Given the description of an element on the screen output the (x, y) to click on. 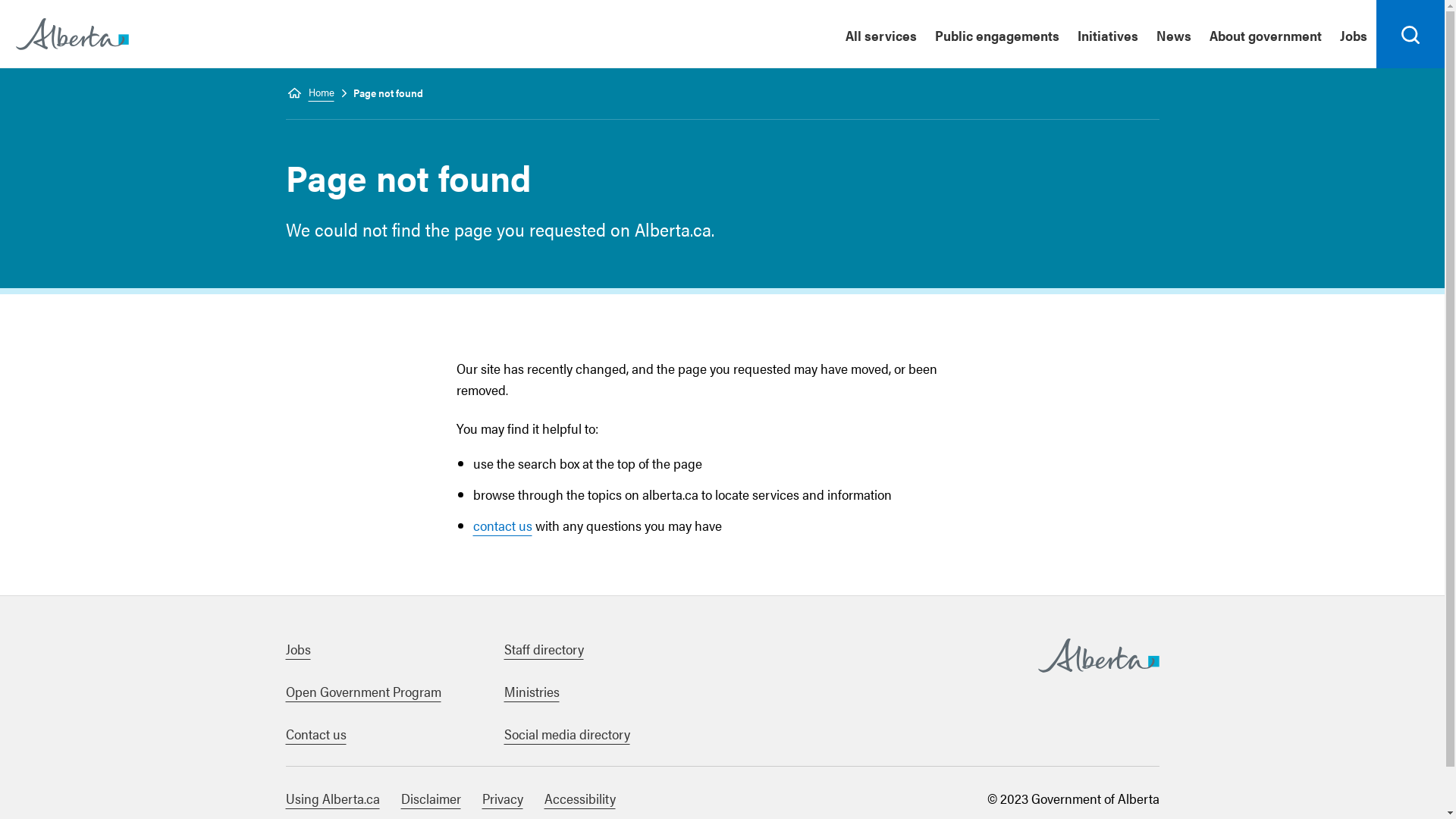
Using Alberta.ca Element type: text (332, 797)
Disclaimer Element type: text (430, 797)
Jobs Element type: text (297, 648)
Social media directory Element type: text (566, 733)
Home Element type: hover (72, 33)
Initiatives Element type: text (1107, 34)
Accessibility Element type: text (579, 797)
contact us Element type: text (502, 524)
Privacy Element type: text (502, 797)
Jobs Element type: text (1353, 34)
Contact us Element type: text (315, 733)
Search Element type: text (1410, 34)
Public engagements Element type: text (996, 34)
Ministries Element type: text (530, 690)
News Element type: text (1173, 34)
All services Element type: text (880, 34)
About government Element type: text (1265, 34)
Open Government Program Element type: text (362, 690)
Home Element type: text (309, 92)
Staff directory Element type: text (543, 648)
